Given the description of an element on the screen output the (x, y) to click on. 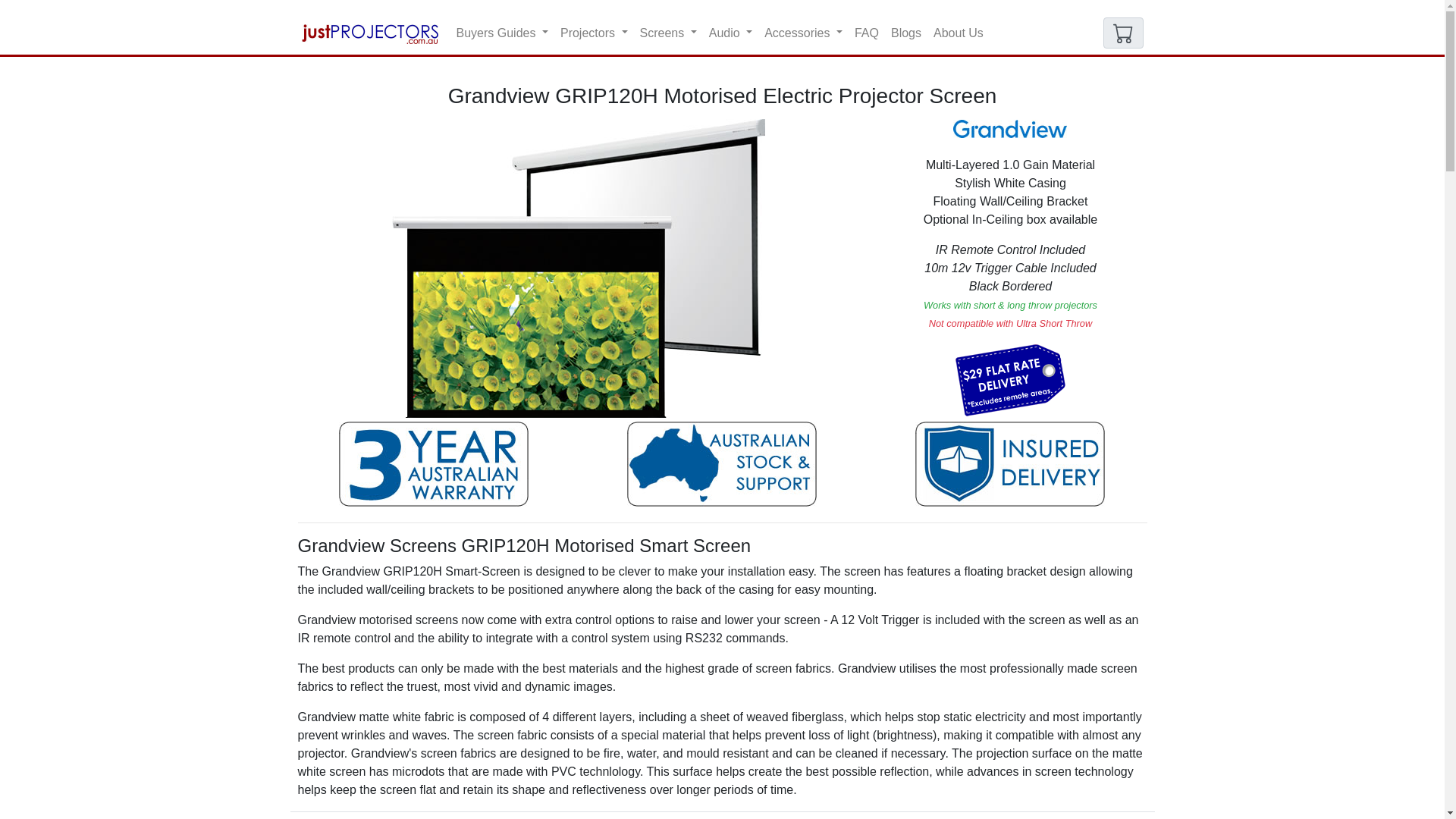
Audio (730, 33)
Buyers Guides (501, 33)
Projectors (593, 33)
Screens (668, 33)
